Given the description of an element on the screen output the (x, y) to click on. 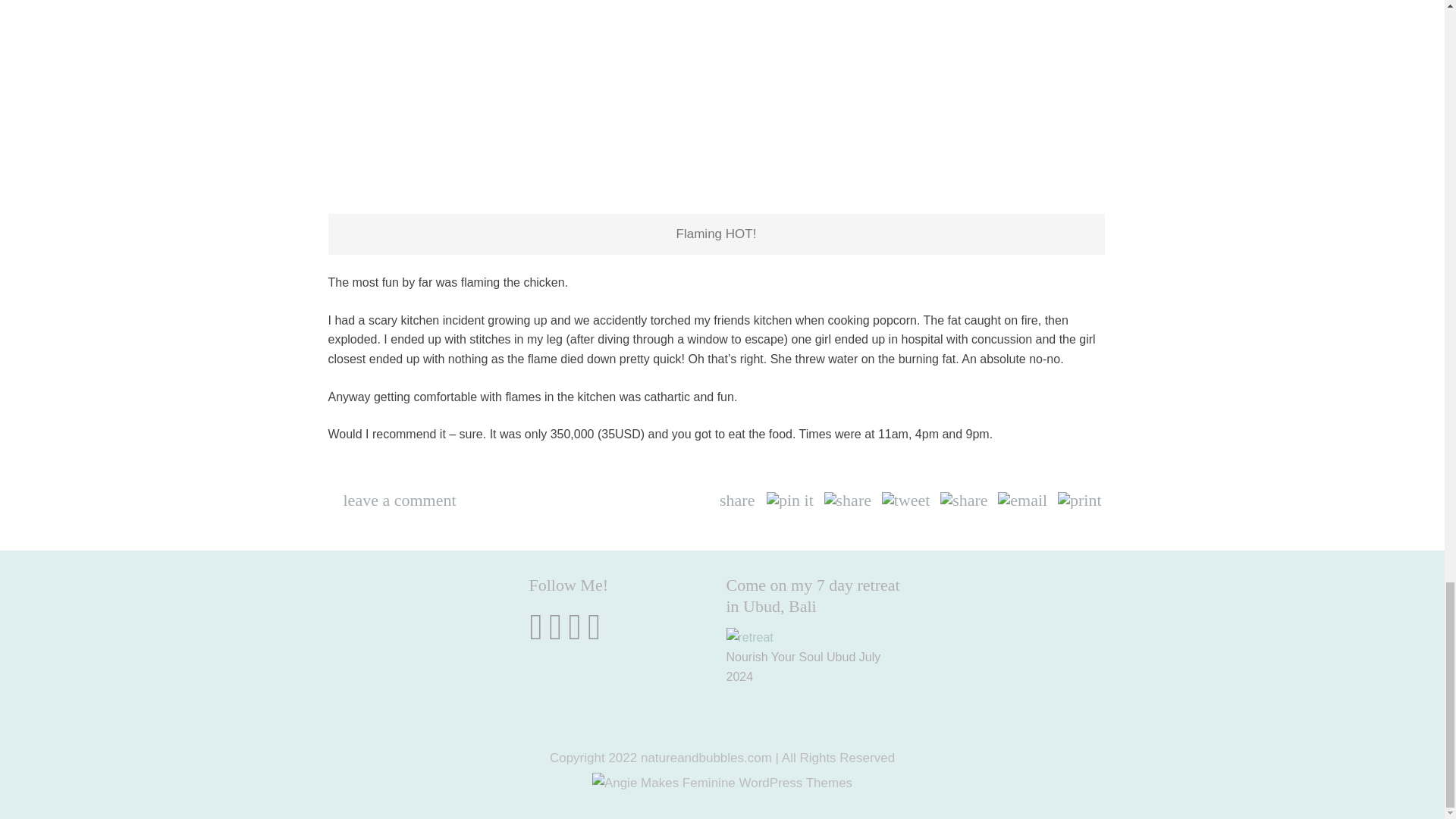
leave a comment (398, 499)
Share by Email (1021, 500)
Click on (749, 637)
